Given the description of an element on the screen output the (x, y) to click on. 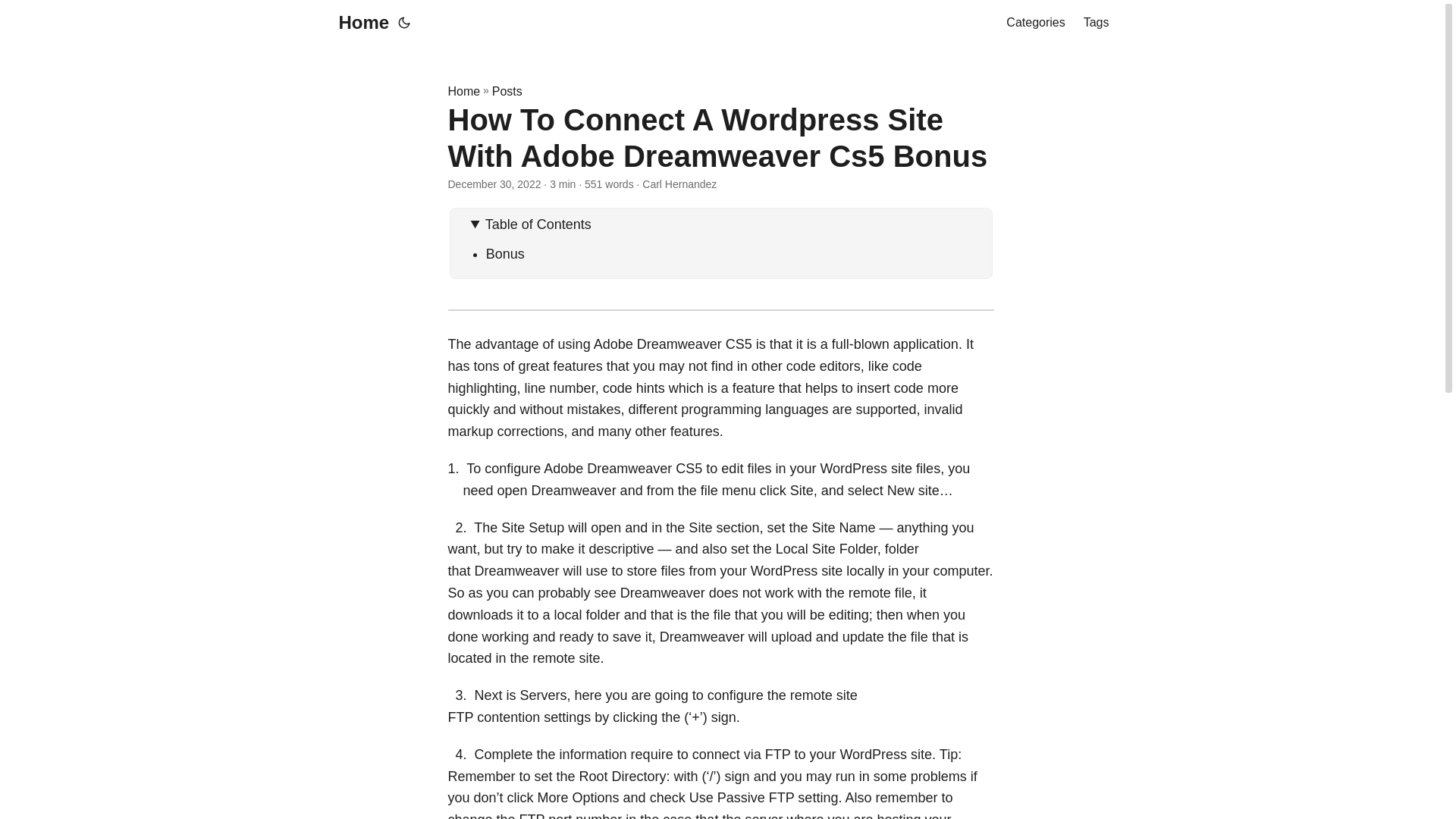
Categories (1035, 22)
Categories (1035, 22)
Bonus (505, 253)
Home (463, 91)
Home (359, 22)
Posts (507, 91)
